Given the description of an element on the screen output the (x, y) to click on. 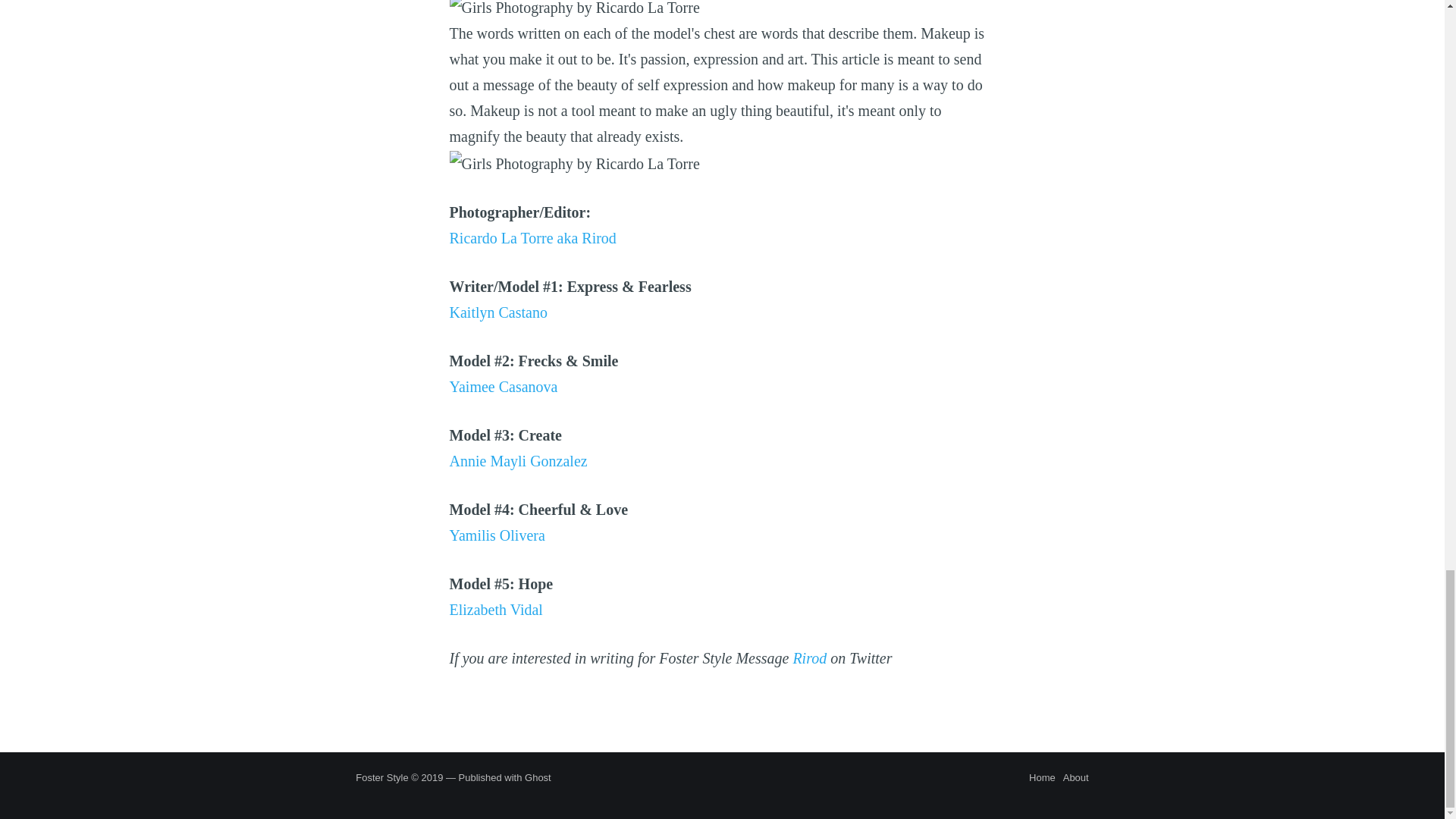
Rirod (809, 658)
Kaitlyn Castano (497, 312)
About (1074, 777)
Foster Style (381, 777)
Yamilis Olivera (496, 535)
Elizabeth Vidal (494, 609)
Home (1042, 777)
Yaimee Casanova (502, 386)
Annie Mayli Gonzalez (517, 460)
Ricardo La Torre aka Rirod (531, 238)
